Given the description of an element on the screen output the (x, y) to click on. 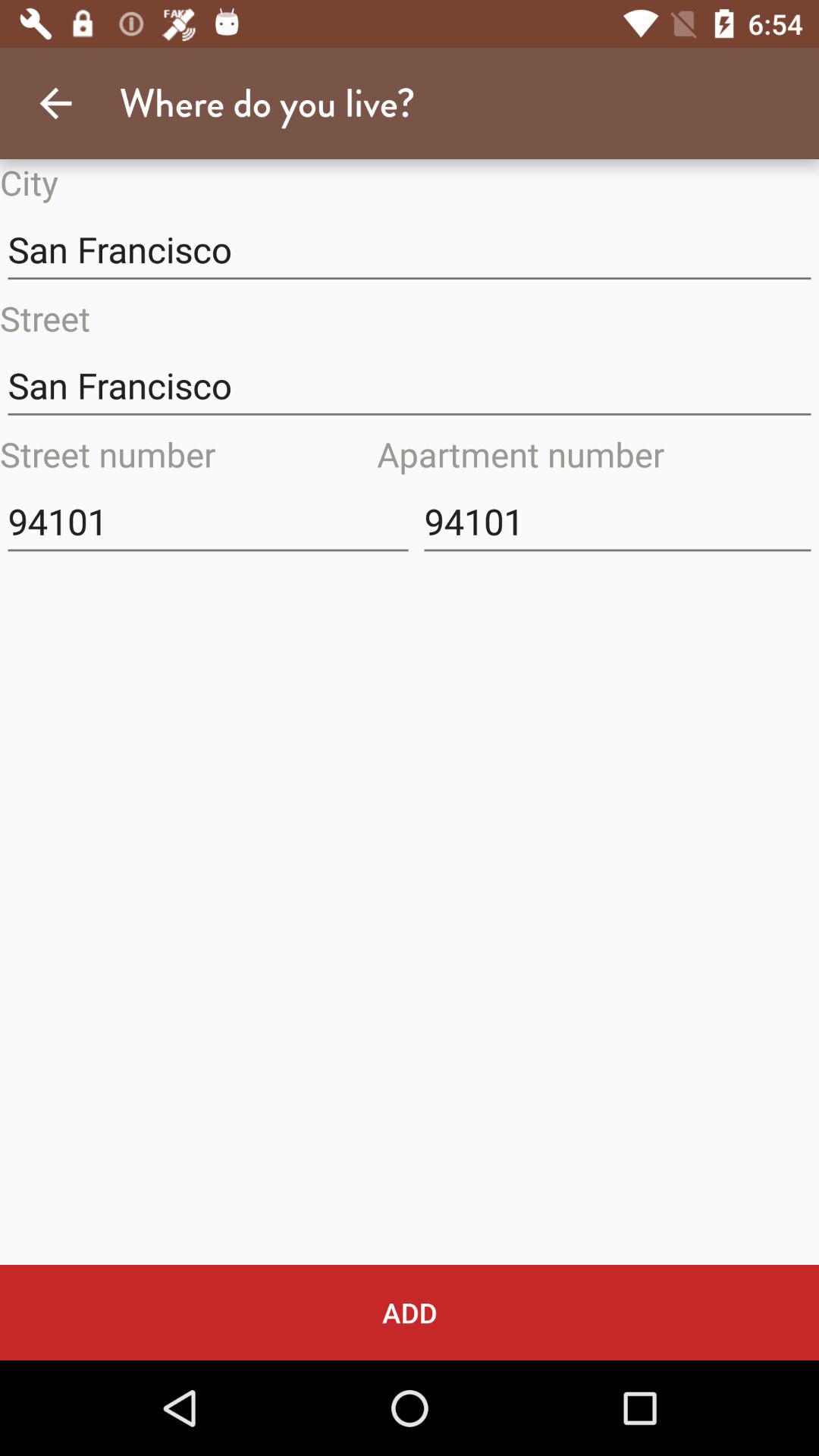
click icon next to where do you (55, 103)
